Given the description of an element on the screen output the (x, y) to click on. 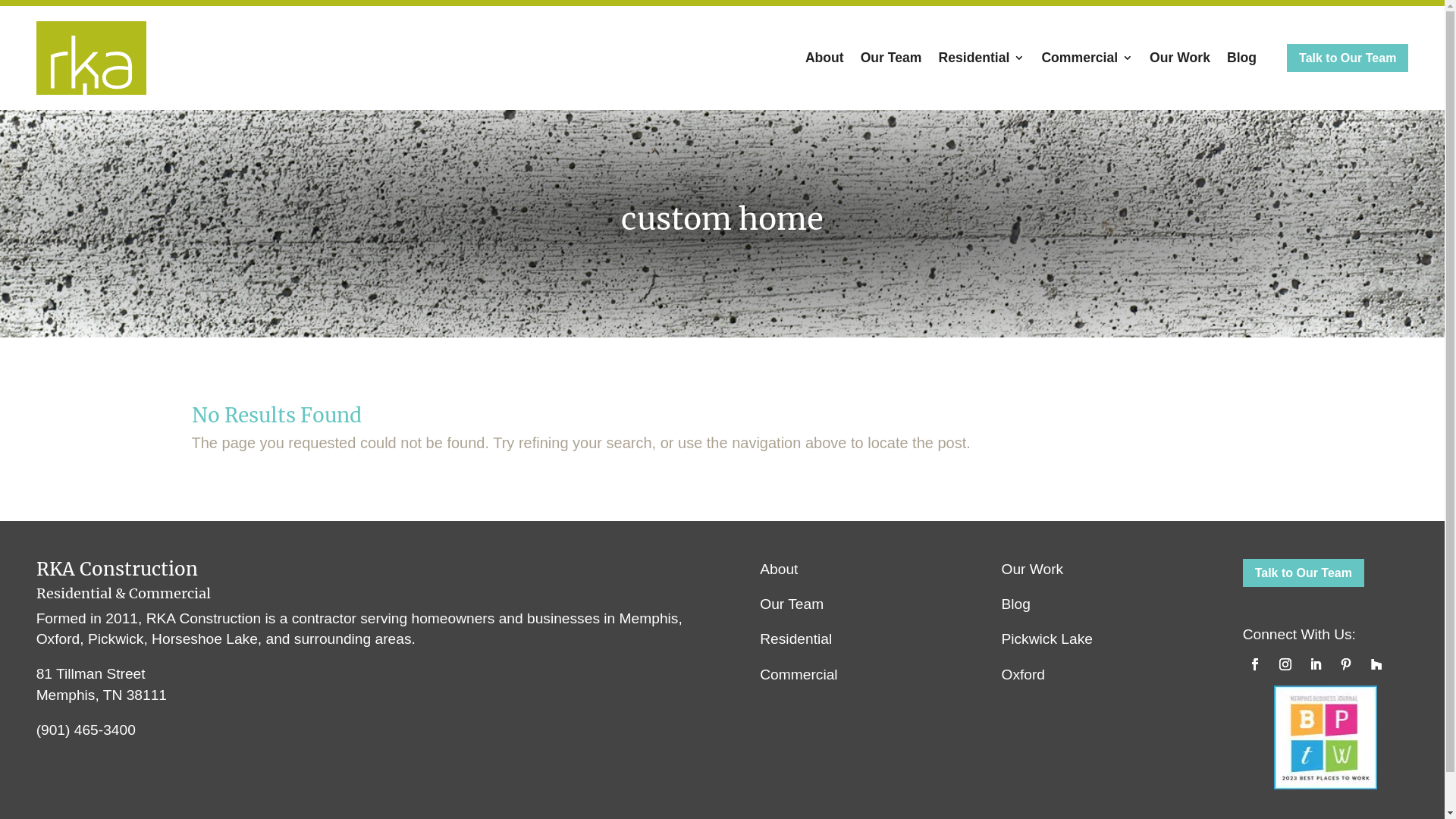
Follow on LinkedIn Element type: hover (1315, 664)
About Element type: text (778, 569)
Residential Element type: text (795, 638)
Our Work Element type: text (1179, 57)
Our Team Element type: text (791, 603)
Residential Element type: text (981, 57)
Memphis, TN 38111 Element type: text (101, 694)
Talk to Our Team Element type: text (1303, 572)
Blog Element type: text (1241, 57)
Follow on Facebook Element type: hover (1254, 664)
Talk to Our Team Element type: text (1347, 57)
Oxford Element type: text (58, 638)
Commercial Element type: text (1086, 57)
Follow on Houzz Element type: hover (1376, 664)
(901) 465-3400 Element type: text (85, 729)
Oxford Element type: text (1022, 674)
Pickwick Element type: text (115, 638)
Residential Element type: text (74, 593)
Our Work Element type: text (1032, 569)
Blog Element type: text (1015, 603)
Pickwick Lake Element type: text (1046, 638)
Commercial Element type: text (169, 593)
Follow on Instagram Element type: hover (1285, 664)
2023 Best Places to Work Logo Element type: hover (1325, 737)
Our Team Element type: text (891, 57)
81 Tillman Street Element type: text (90, 673)
Follow on Pinterest Element type: hover (1345, 664)
Commercial Element type: text (798, 674)
About Element type: text (824, 57)
